Given the description of an element on the screen output the (x, y) to click on. 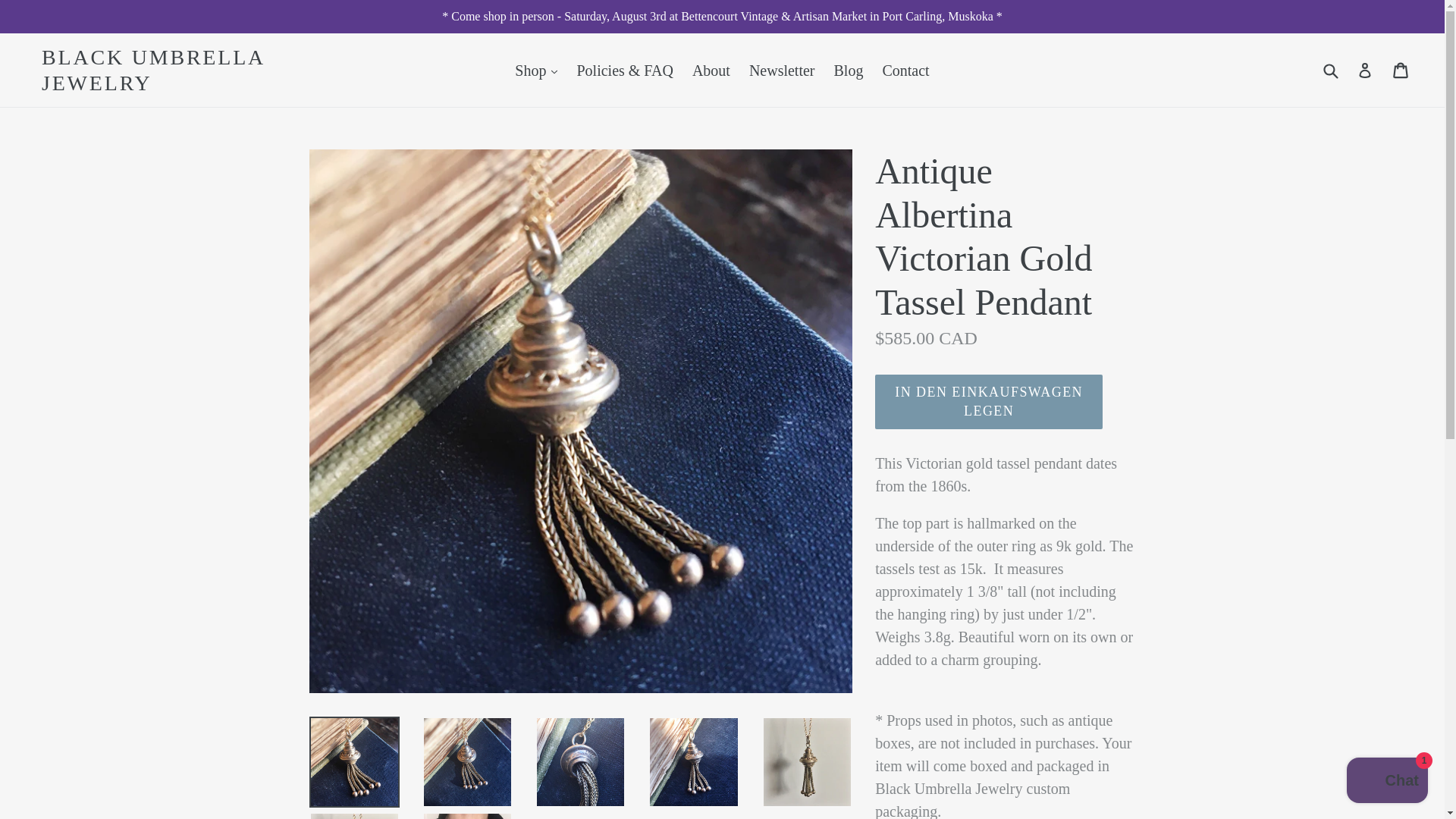
Onlineshop-Chat von Shopify (1387, 781)
BLACK UMBRELLA JEWELRY (211, 70)
